Given the description of an element on the screen output the (x, y) to click on. 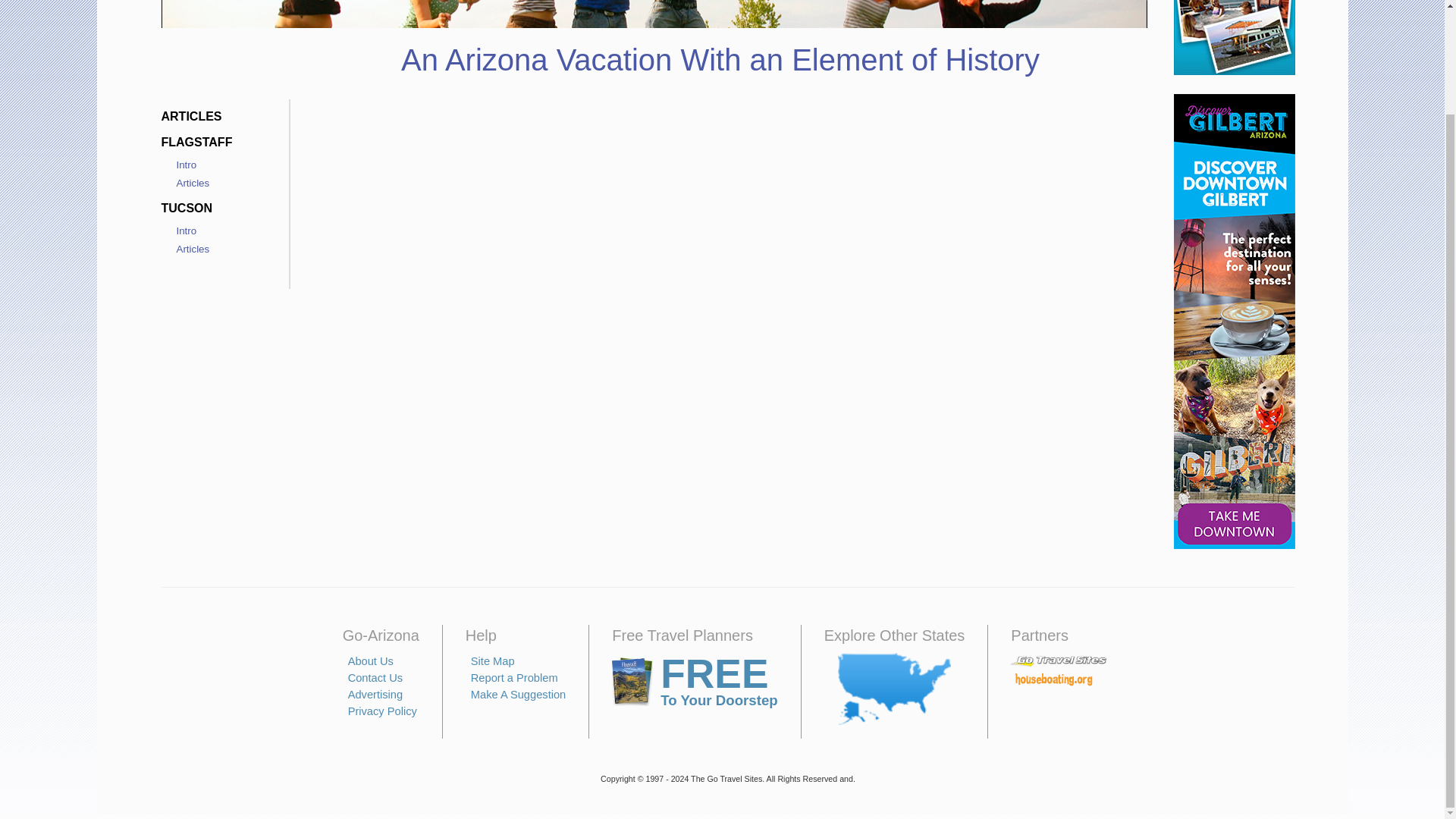
Information about this site and the Go Travel Sites. (370, 661)
Request Your Arizona Travel Information (694, 681)
A record of major sections of this website. (492, 661)
Contact Information for this site and the Go Travel Sites. (375, 677)
Information about advertising on this site. (375, 694)
Click here to explore other Go Travel Sites (894, 688)
